Given the description of an element on the screen output the (x, y) to click on. 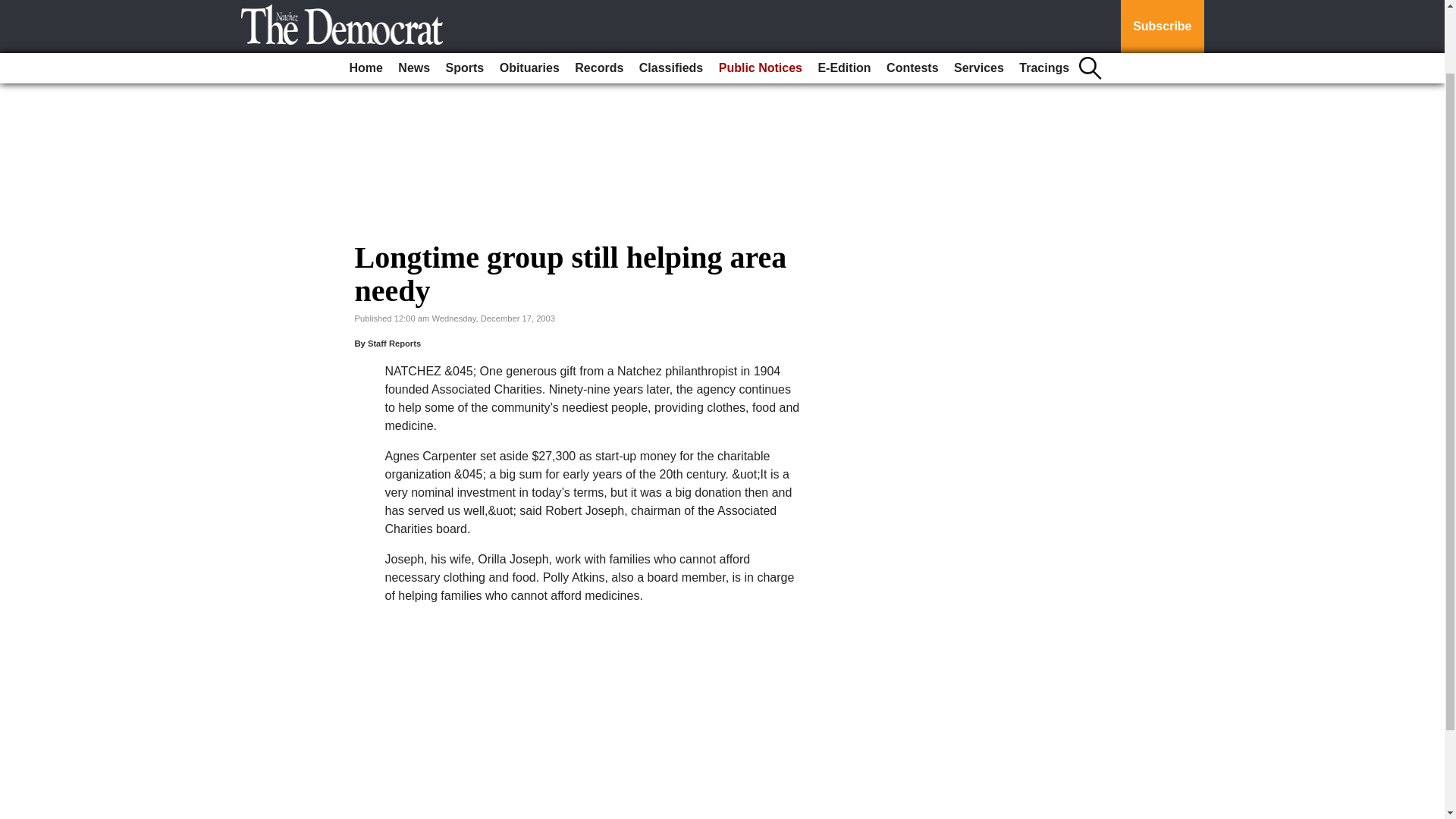
Staff Reports (394, 343)
Records (598, 2)
Services (978, 2)
Public Notices (760, 2)
Home (365, 2)
Sports (464, 2)
Contests (911, 2)
Classifieds (671, 2)
News (413, 2)
Tracings (1044, 2)
E-Edition (843, 2)
Obituaries (529, 2)
